Given the description of an element on the screen output the (x, y) to click on. 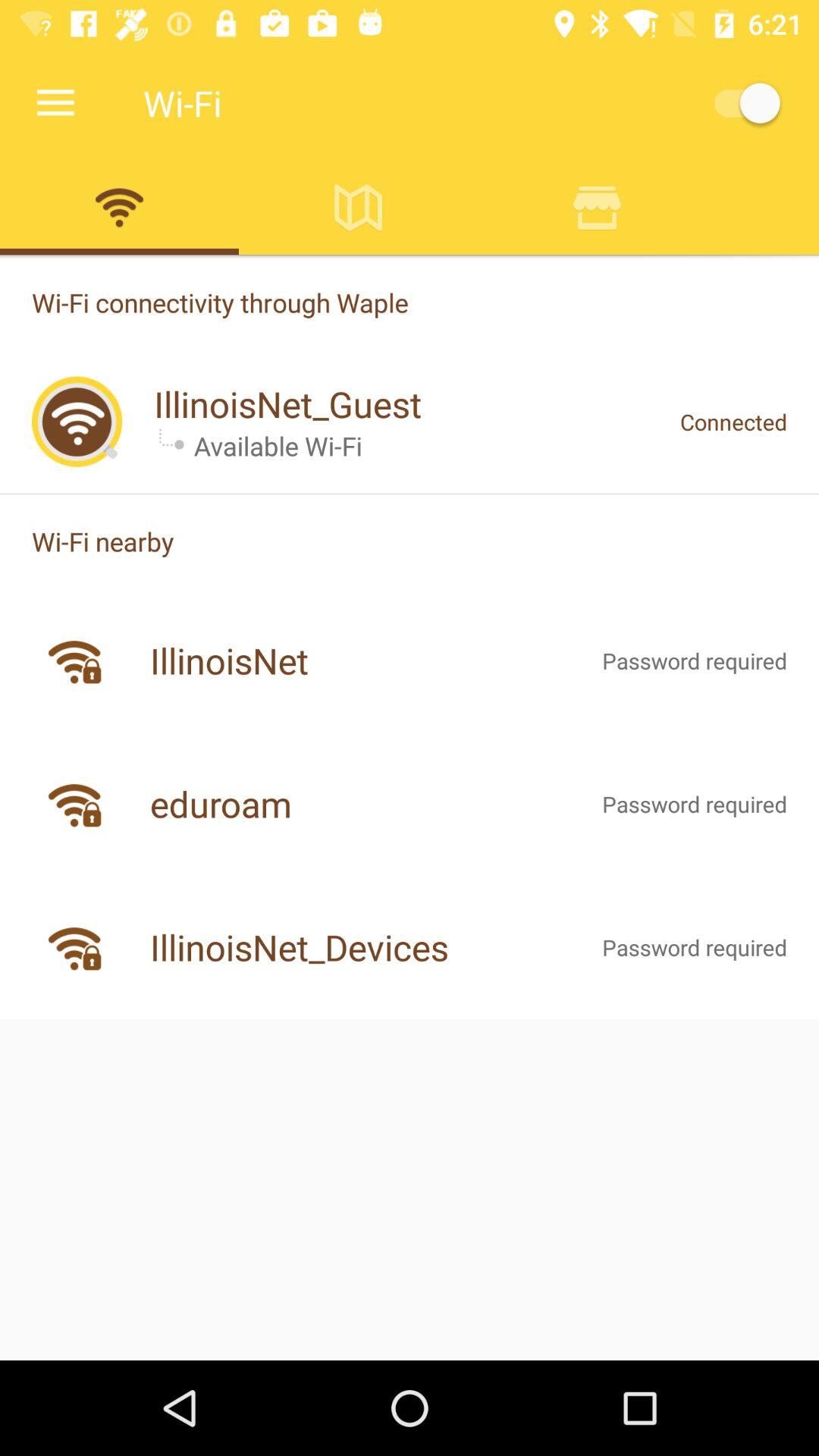
wifi key (119, 206)
